Given the description of an element on the screen output the (x, y) to click on. 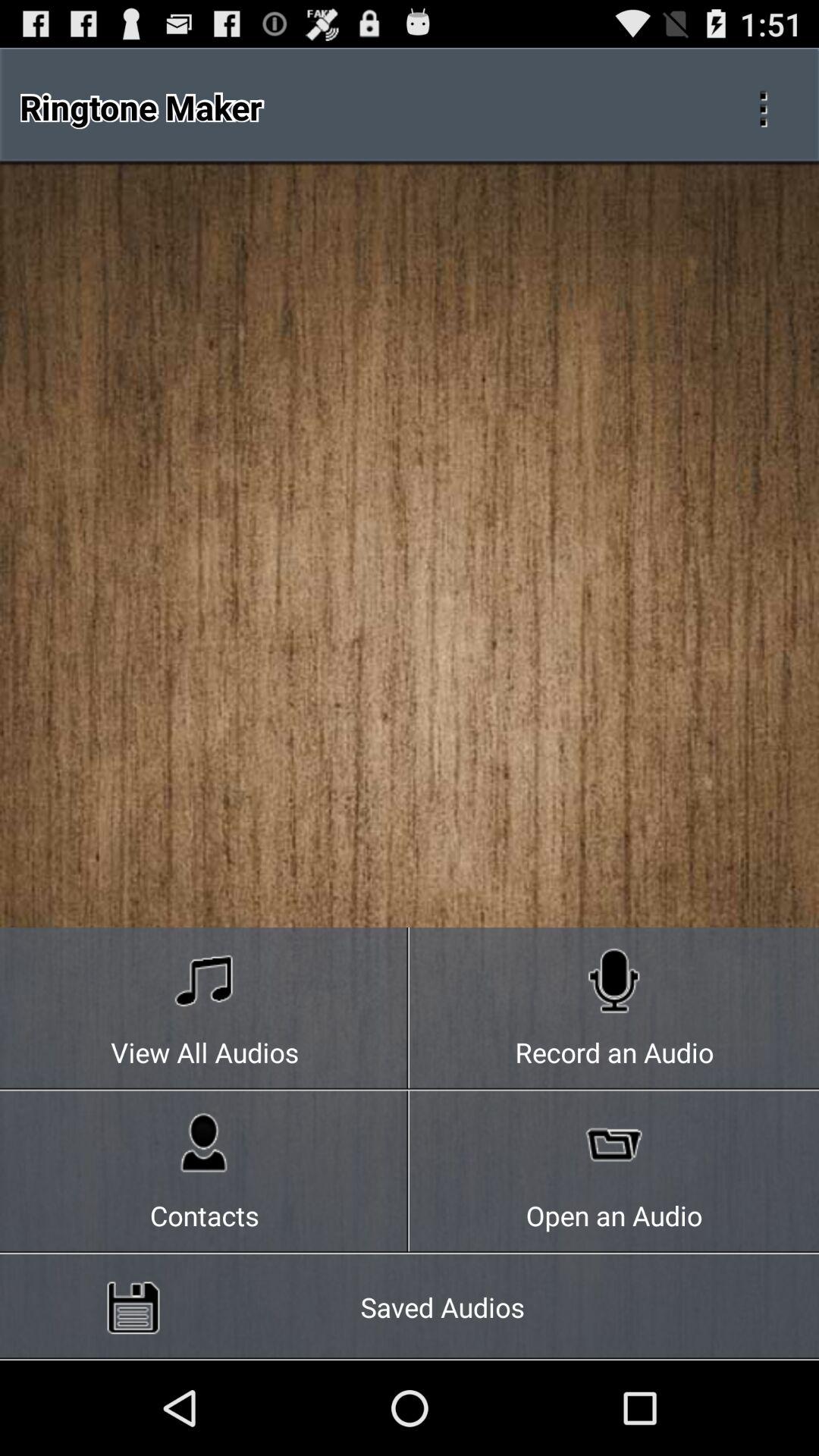
press the icon to the left of record an audio button (204, 1008)
